Given the description of an element on the screen output the (x, y) to click on. 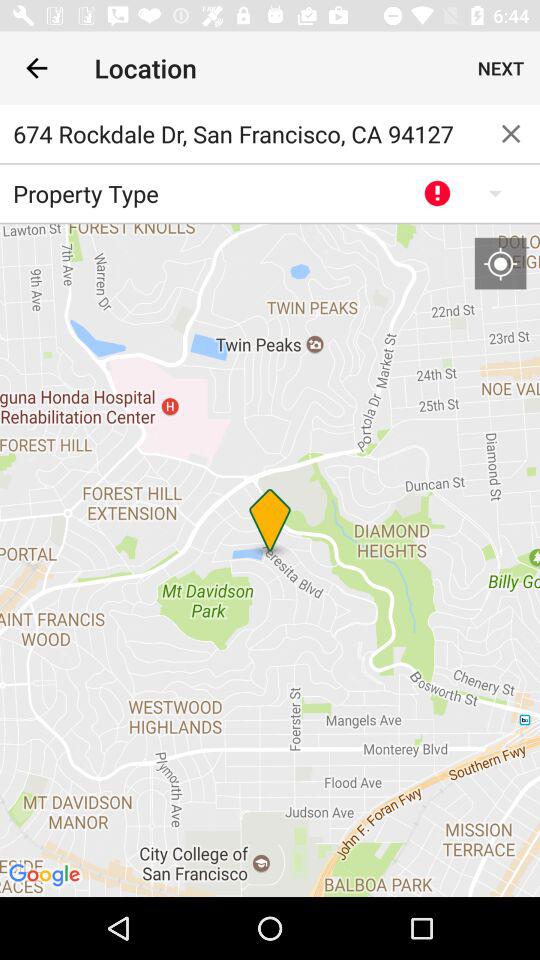
tap the item at the center (270, 560)
